Given the description of an element on the screen output the (x, y) to click on. 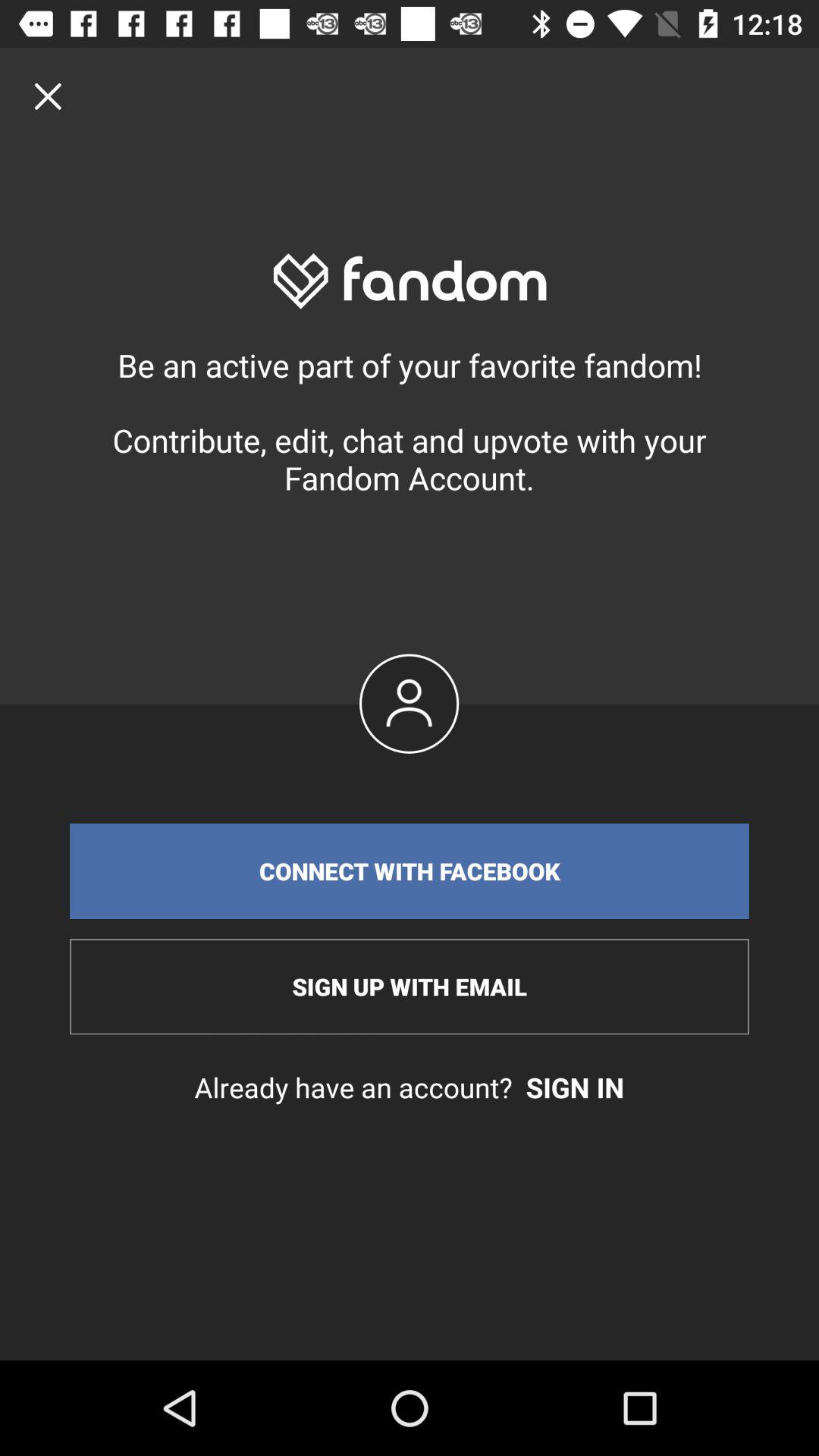
select the sign up with (409, 986)
